Given the description of an element on the screen output the (x, y) to click on. 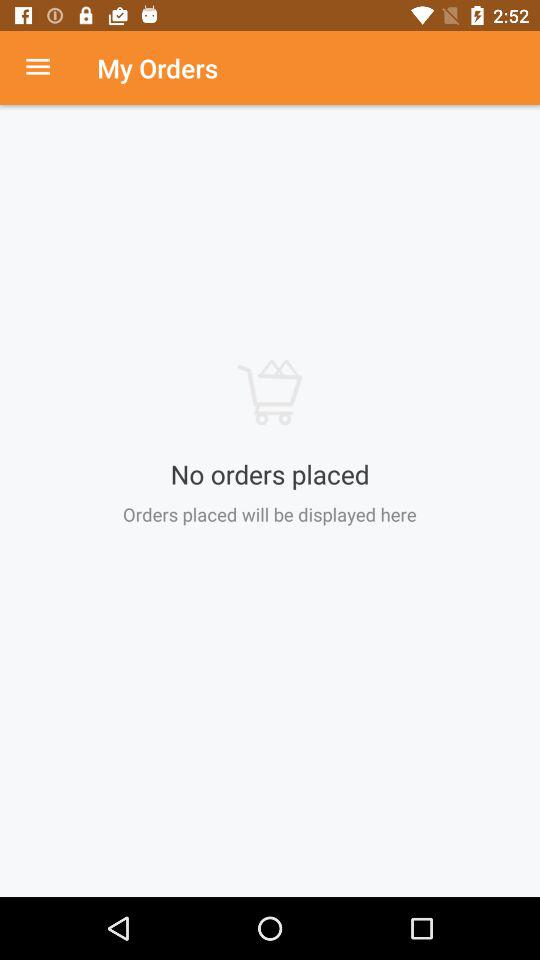
drop menu (48, 67)
